Given the description of an element on the screen output the (x, y) to click on. 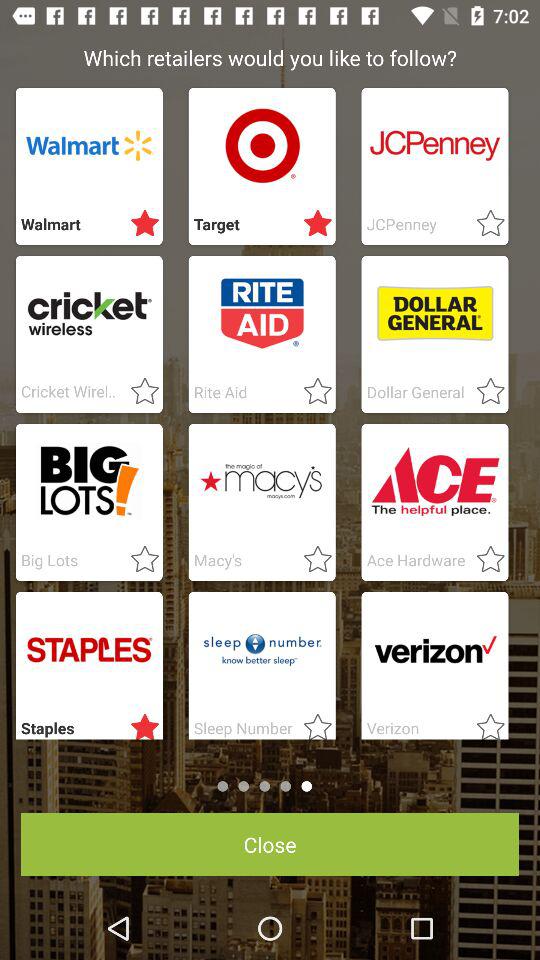
fovread (312, 560)
